Given the description of an element on the screen output the (x, y) to click on. 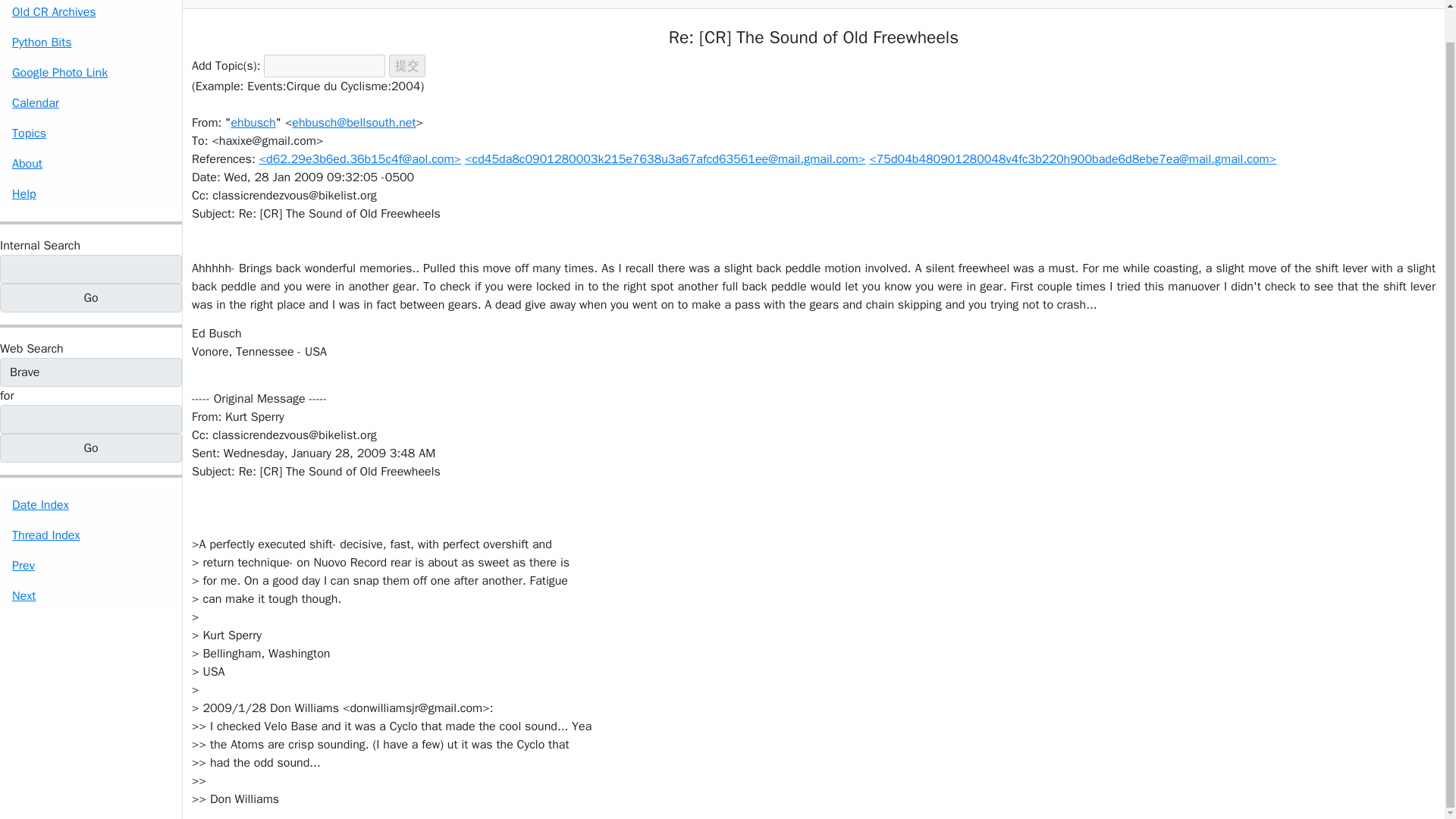
Prev (91, 565)
Go (91, 448)
ehbusch (252, 122)
Next (91, 595)
About (91, 163)
Select your preferred search engine and enter a search term. (32, 348)
Python Bits (91, 42)
Go (91, 297)
Help (91, 194)
Enter a word or phrase to search the archive. (40, 245)
Thread Index (91, 535)
Go (91, 448)
Date Index (91, 504)
Go (91, 297)
Topics (91, 132)
